Given the description of an element on the screen output the (x, y) to click on. 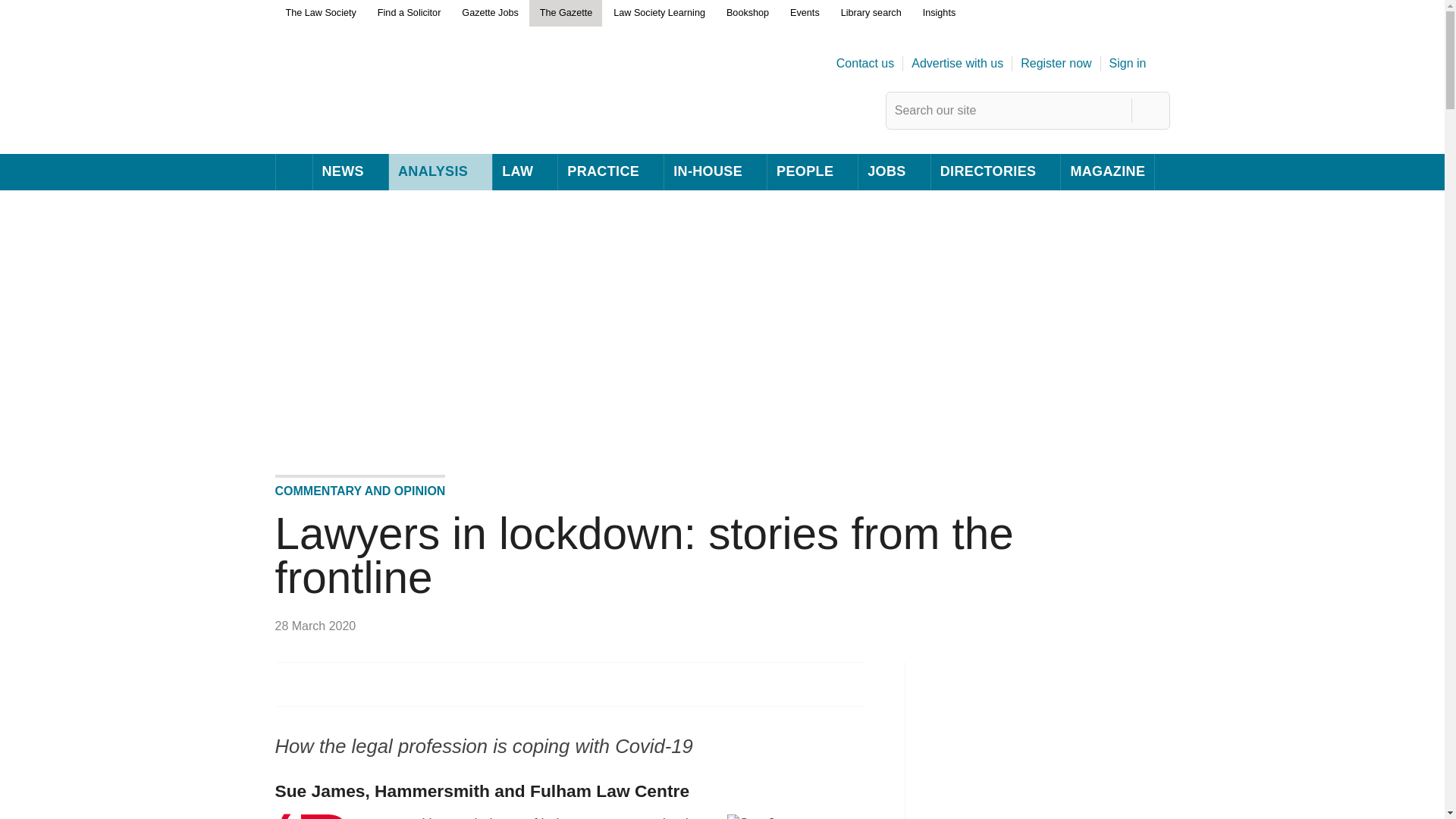
Insights (939, 13)
Gazette Jobs (489, 13)
LSG logo (380, 119)
Find a Solicitor (408, 13)
Email this article (288, 683)
SEARCH (1150, 110)
Law Society Learning (658, 13)
Insights (939, 13)
The Law Society (320, 13)
Law Society Learning (658, 13)
